Given the description of an element on the screen output the (x, y) to click on. 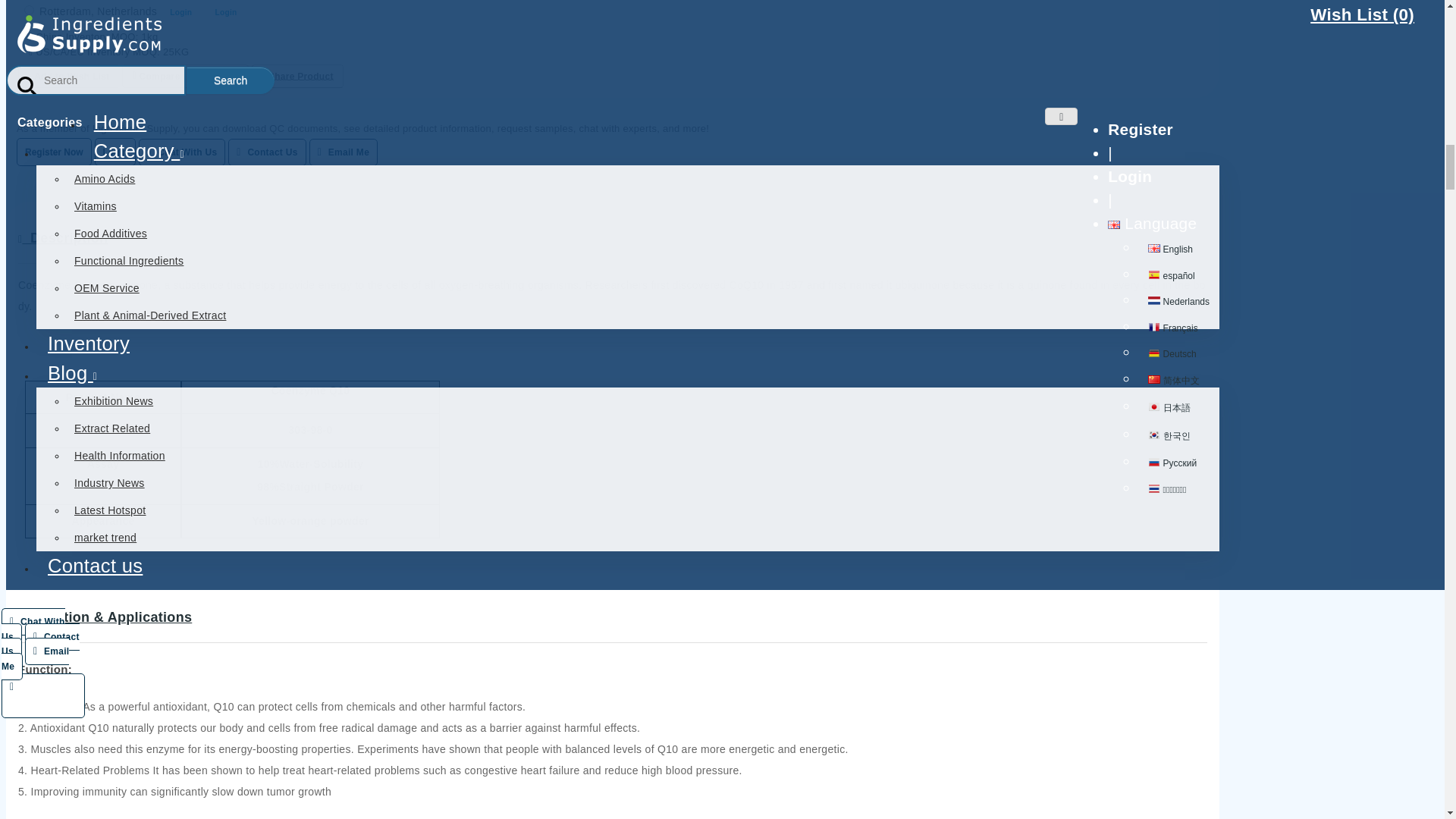
Login (115, 152)
5 (28, 9)
